Given the description of an element on the screen output the (x, y) to click on. 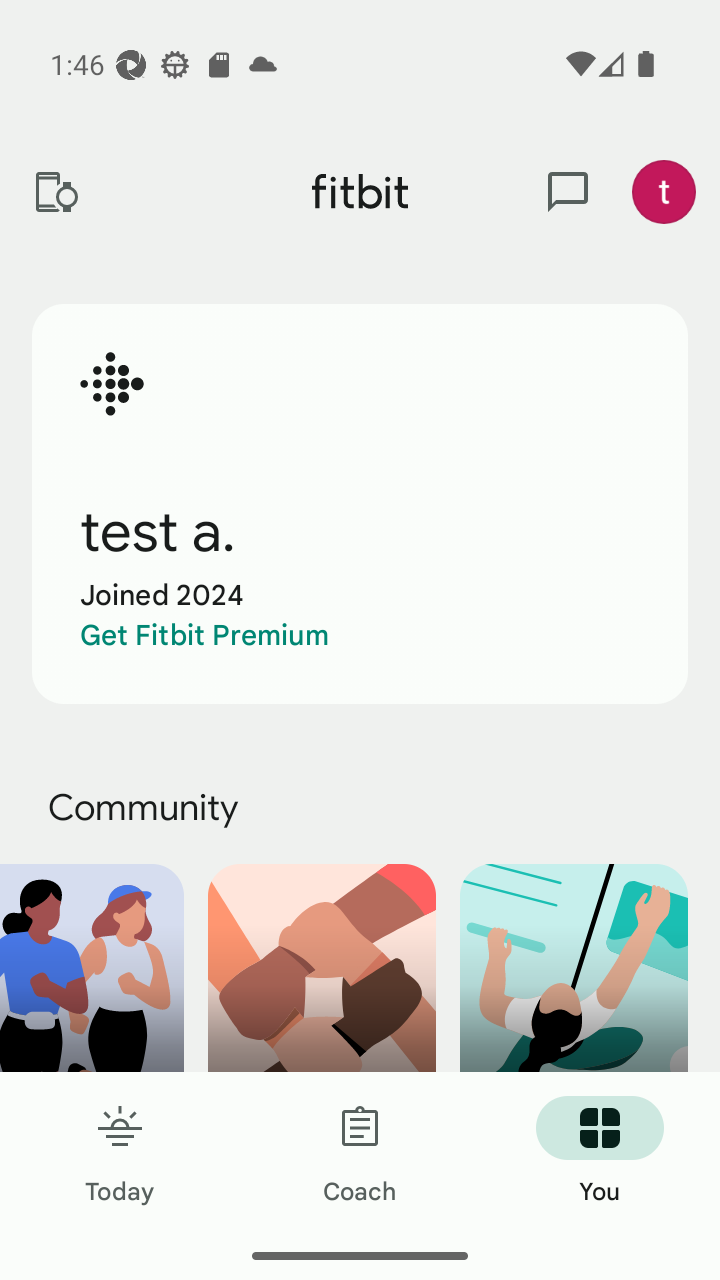
Devices and apps (55, 191)
messages and notifications (567, 191)
Get Fitbit Premium (204, 635)
Today (119, 1151)
Coach (359, 1151)
